Given the description of an element on the screen output the (x, y) to click on. 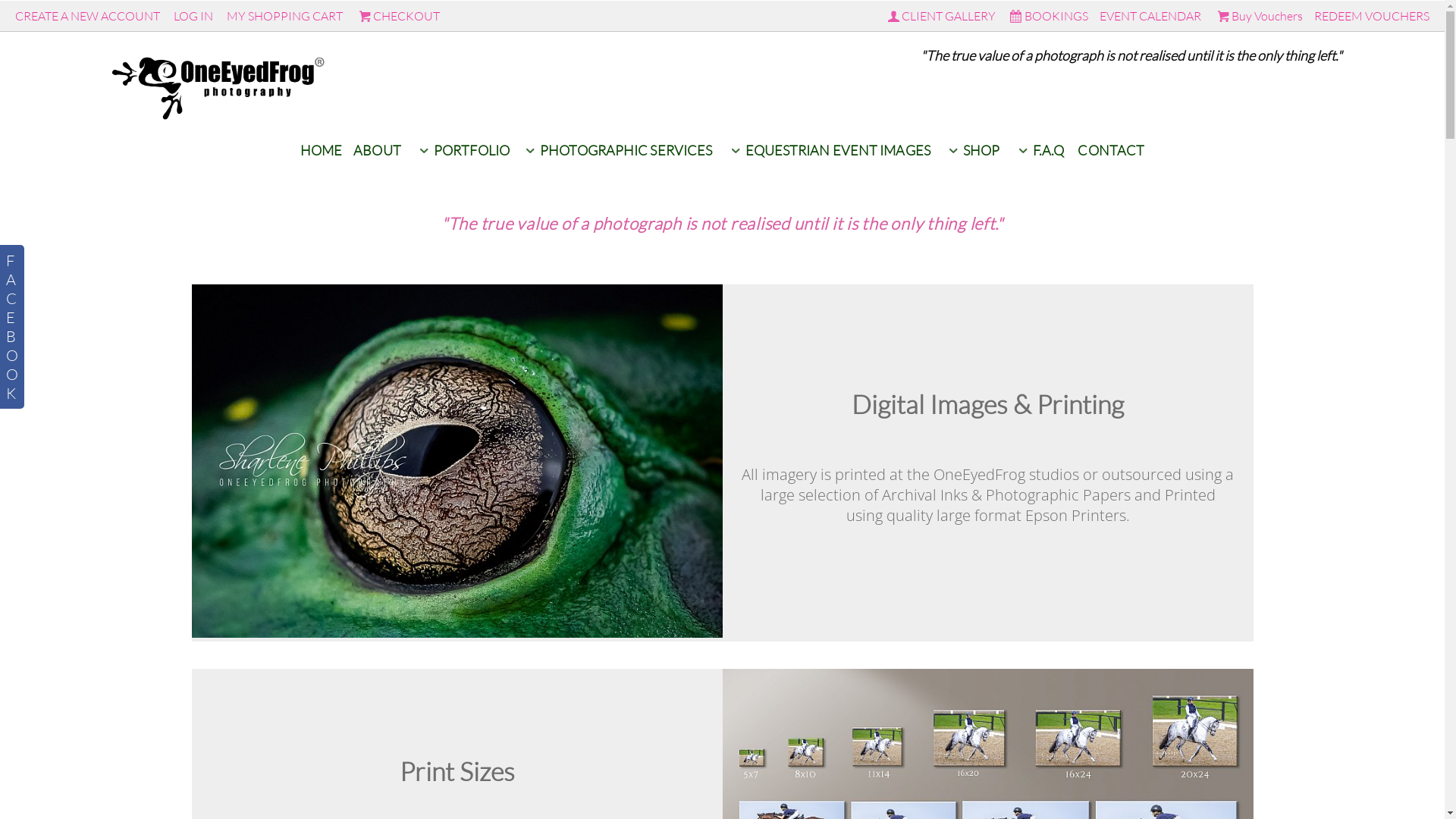
F.A.Q Element type: text (1038, 150)
PORTFOLIO Element type: text (461, 150)
HOME Element type: text (320, 150)
CONTACT Element type: text (1111, 150)
SHOP Element type: text (971, 150)
CHECKOUT Element type: text (397, 15)
ABOUT Element type: text (377, 150)
Buy Vouchers Element type: text (1258, 15)
REDEEM VOUCHERS Element type: text (1371, 15)
CREATE A NEW ACCOUNT Element type: text (87, 15)
EQUESTRIAN EVENT IMAGES Element type: text (828, 150)
CLIENT GALLERY Element type: text (939, 15)
PHOTOGRAPHIC SERVICES Element type: text (615, 150)
EVENT CALENDAR Element type: text (1150, 15)
LOG IN Element type: text (193, 15)
BOOKINGS Element type: text (1047, 15)
MY SHOPPING CART Element type: text (285, 15)
